Given the description of an element on the screen output the (x, y) to click on. 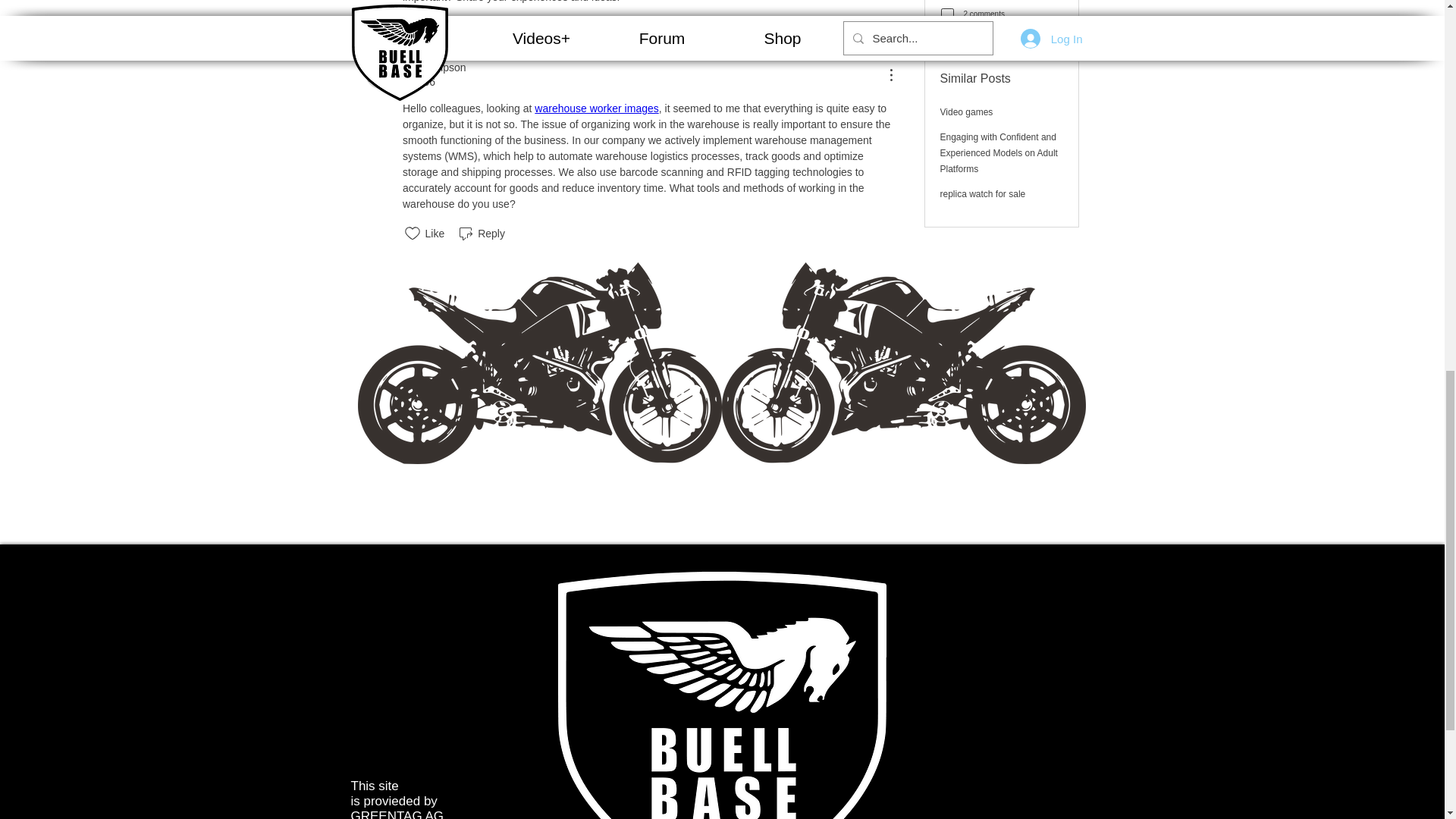
Reply (481, 233)
Bart Simpson (379, 74)
Reply (481, 26)
warehouse worker images (596, 108)
Bart Simpson (433, 67)
